Given the description of an element on the screen output the (x, y) to click on. 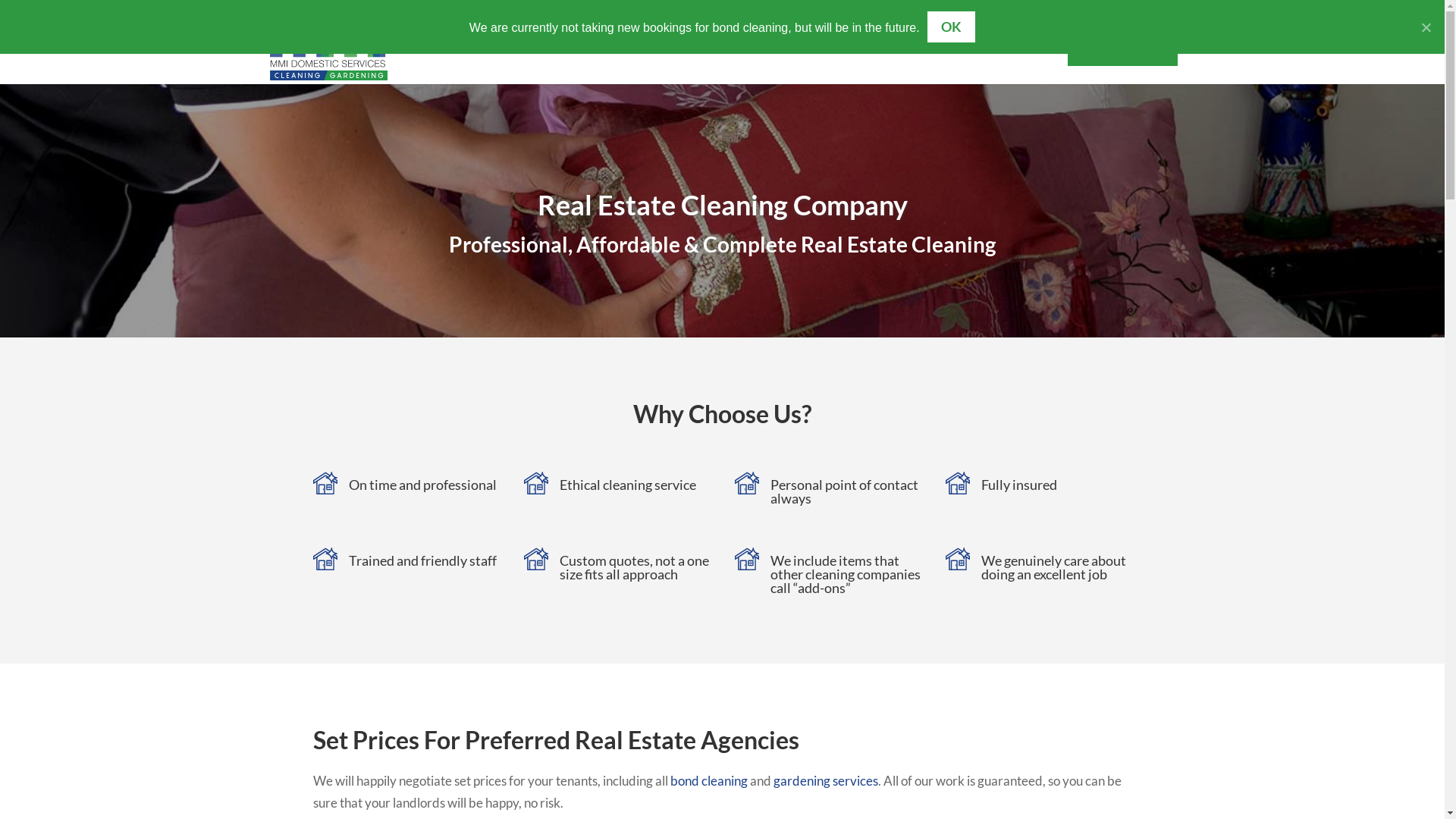
gardening services Element type: text (825, 780)
OK Element type: text (951, 26)
NDIS Element type: text (854, 63)
GARDENING Element type: text (787, 63)
bond cleaning Element type: text (708, 780)
CONTACT US Element type: text (1013, 63)
CLEANING Element type: text (575, 63)
ABOUT US Element type: text (923, 63)
HOME Element type: text (502, 63)
CARPET CLEANING Element type: text (682, 63)
BOOK NOW Element type: text (1121, 47)
